Given the description of an element on the screen output the (x, y) to click on. 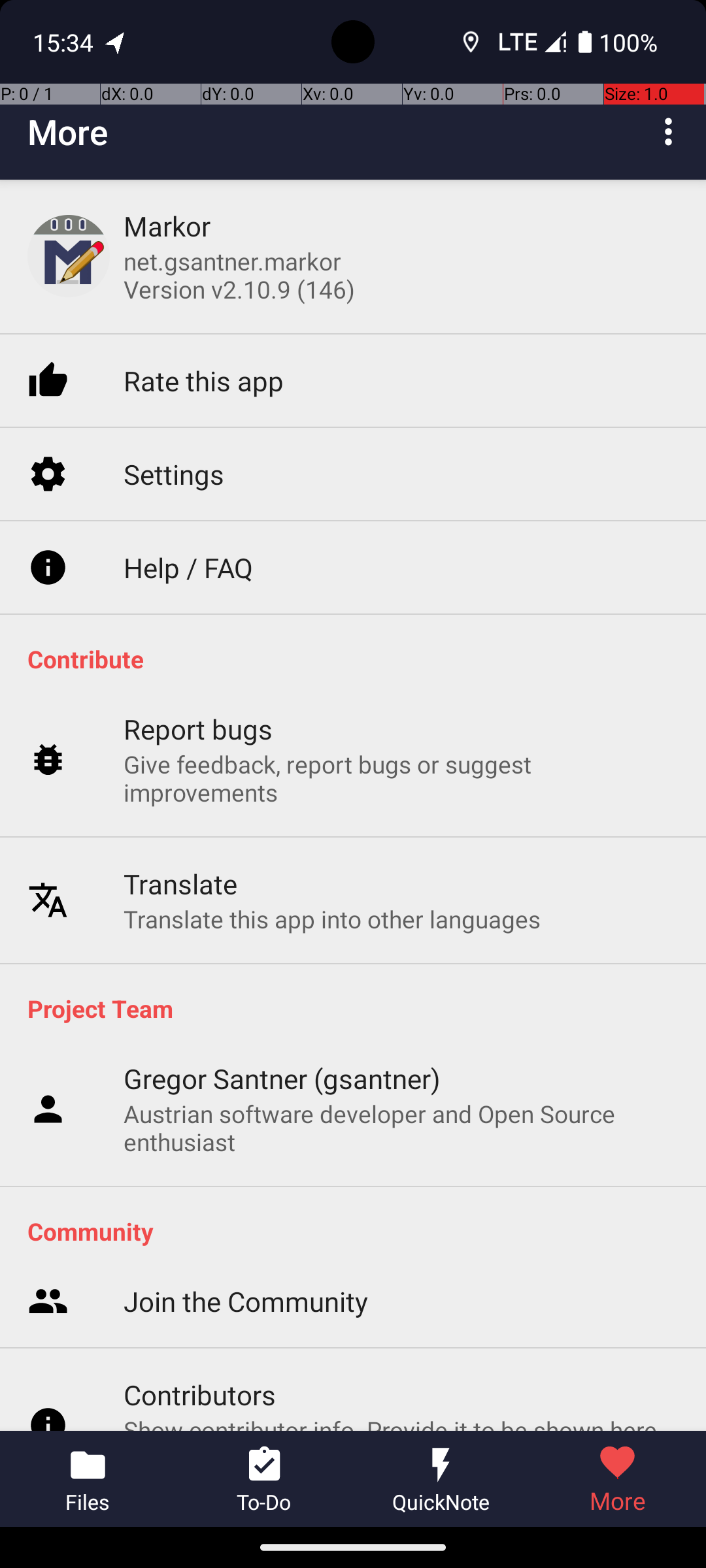
OpenTracks notification:  Element type: android.widget.ImageView (115, 41)
